Given the description of an element on the screen output the (x, y) to click on. 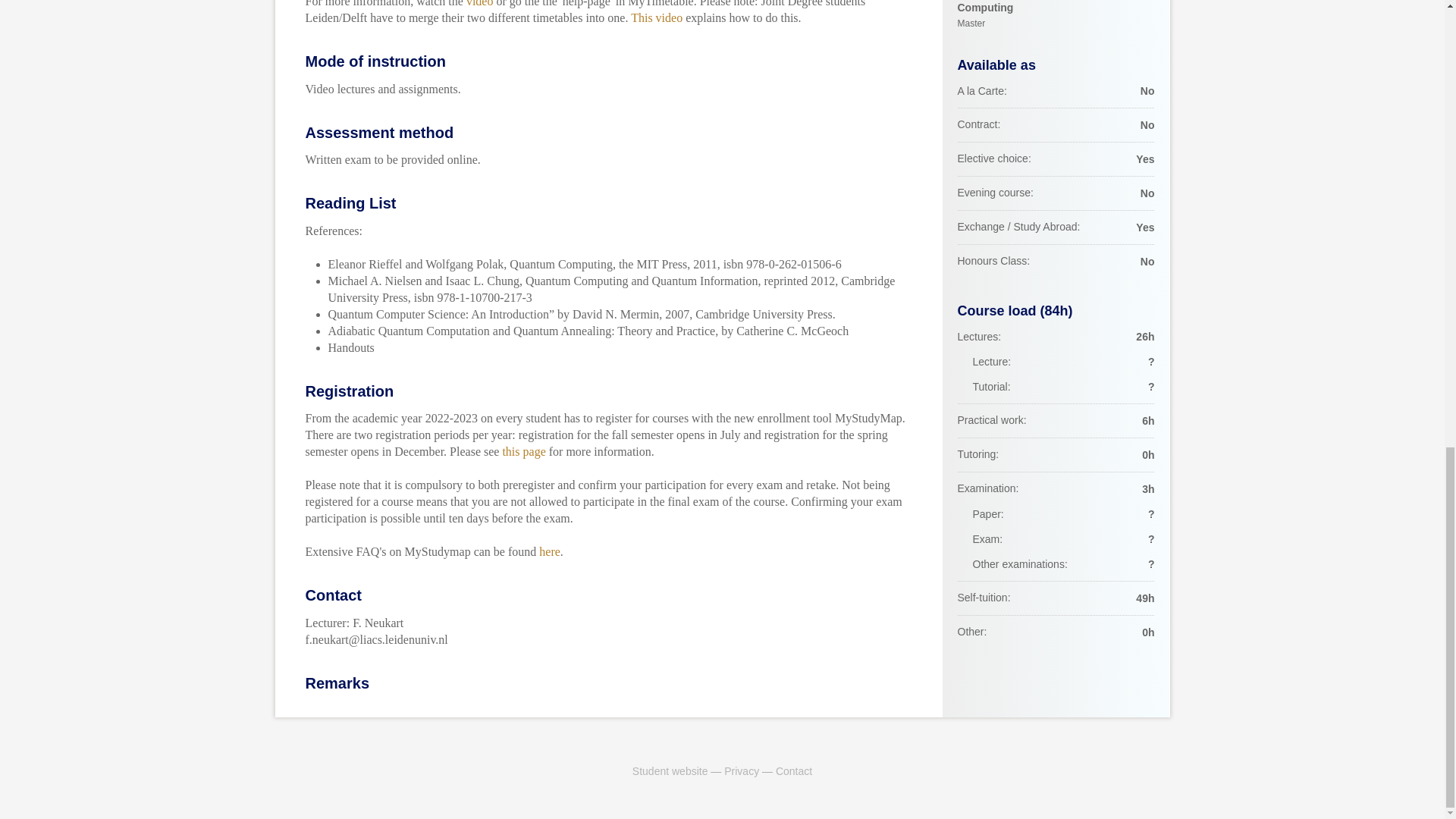
This video (656, 17)
Contact (794, 770)
Privacy (740, 770)
video (479, 3)
this page (523, 451)
Student website (669, 770)
here (1055, 16)
